Given the description of an element on the screen output the (x, y) to click on. 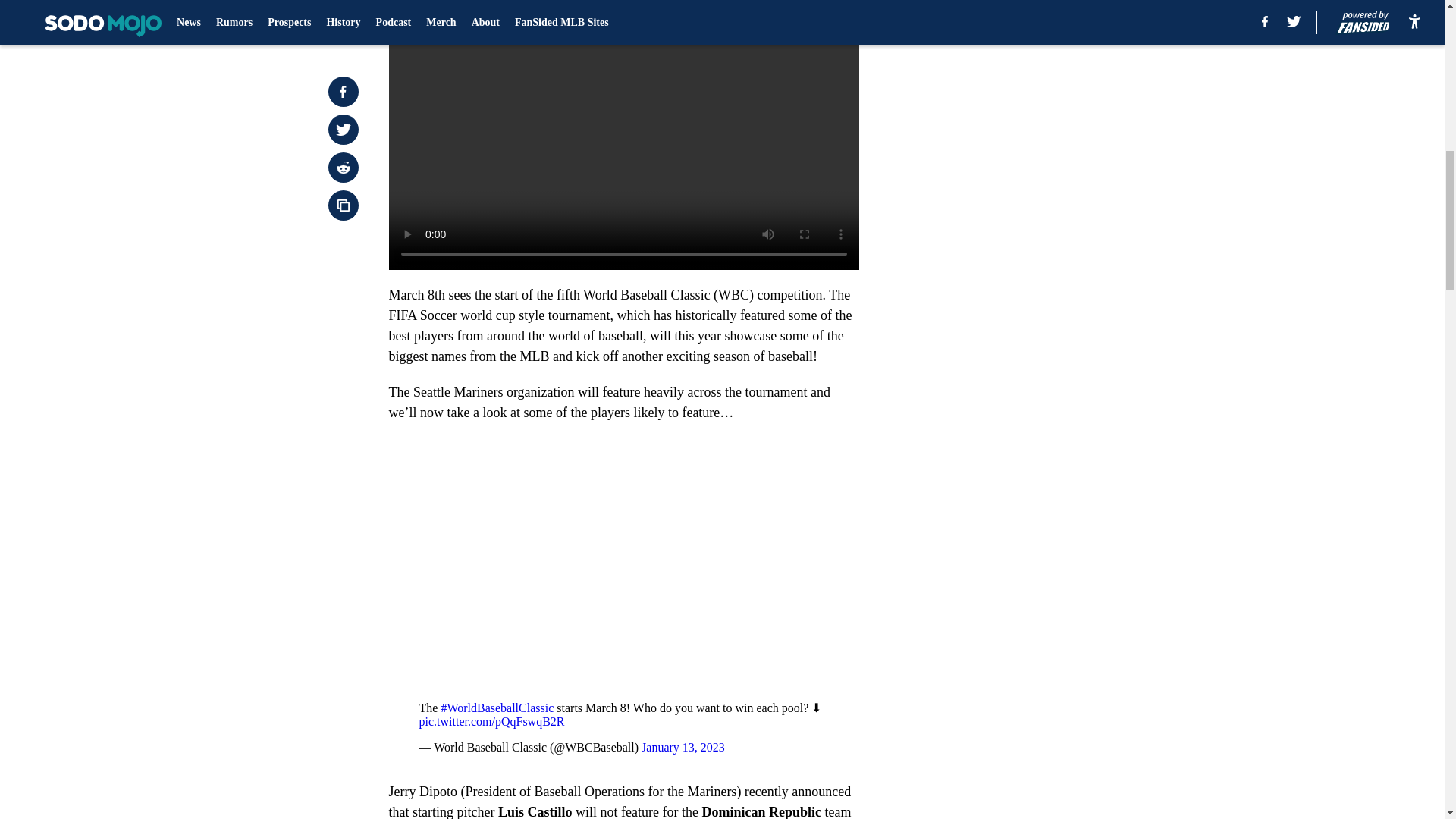
3rd party ad content (1047, 320)
January 13, 2023 (683, 747)
3rd party ad content (1047, 100)
